Given the description of an element on the screen output the (x, y) to click on. 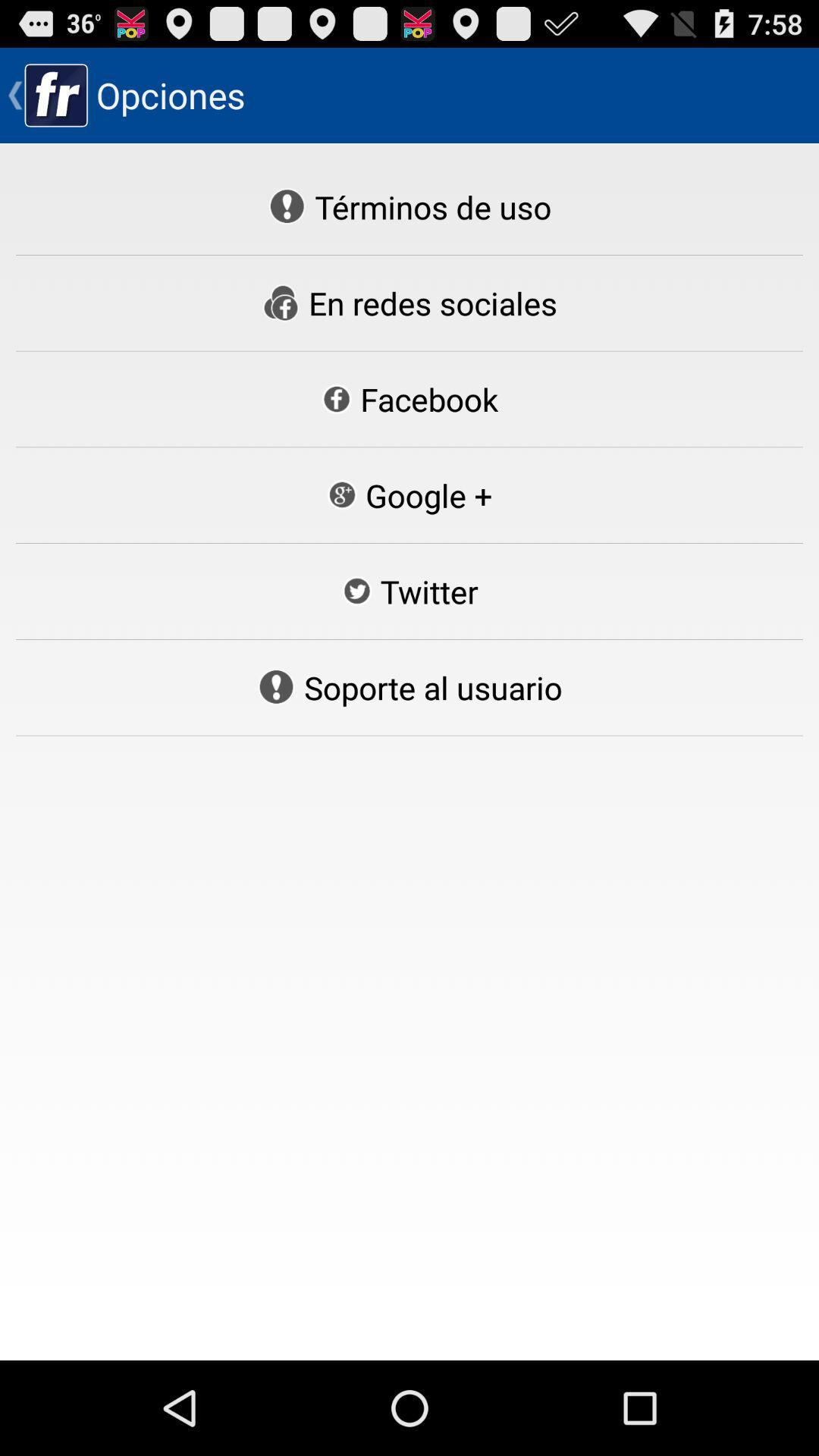
jump until google + icon (408, 495)
